Given the description of an element on the screen output the (x, y) to click on. 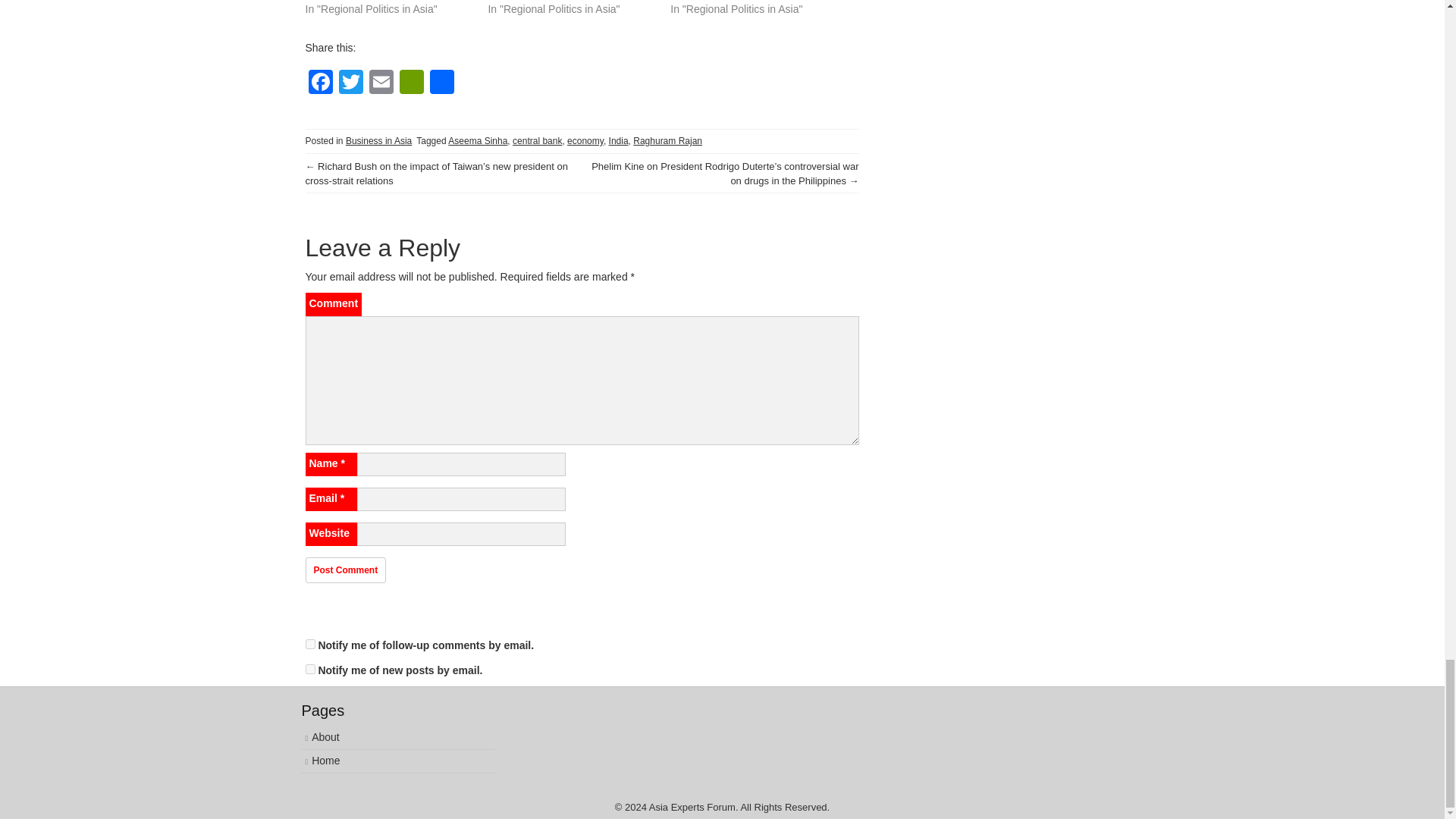
Twitter (349, 83)
India (618, 140)
Facebook (319, 83)
PrintFriendly (411, 83)
Post Comment (344, 570)
Facebook (319, 83)
PrintFriendly (411, 83)
subscribe (309, 644)
Email (380, 83)
subscribe (309, 669)
